Given the description of an element on the screen output the (x, y) to click on. 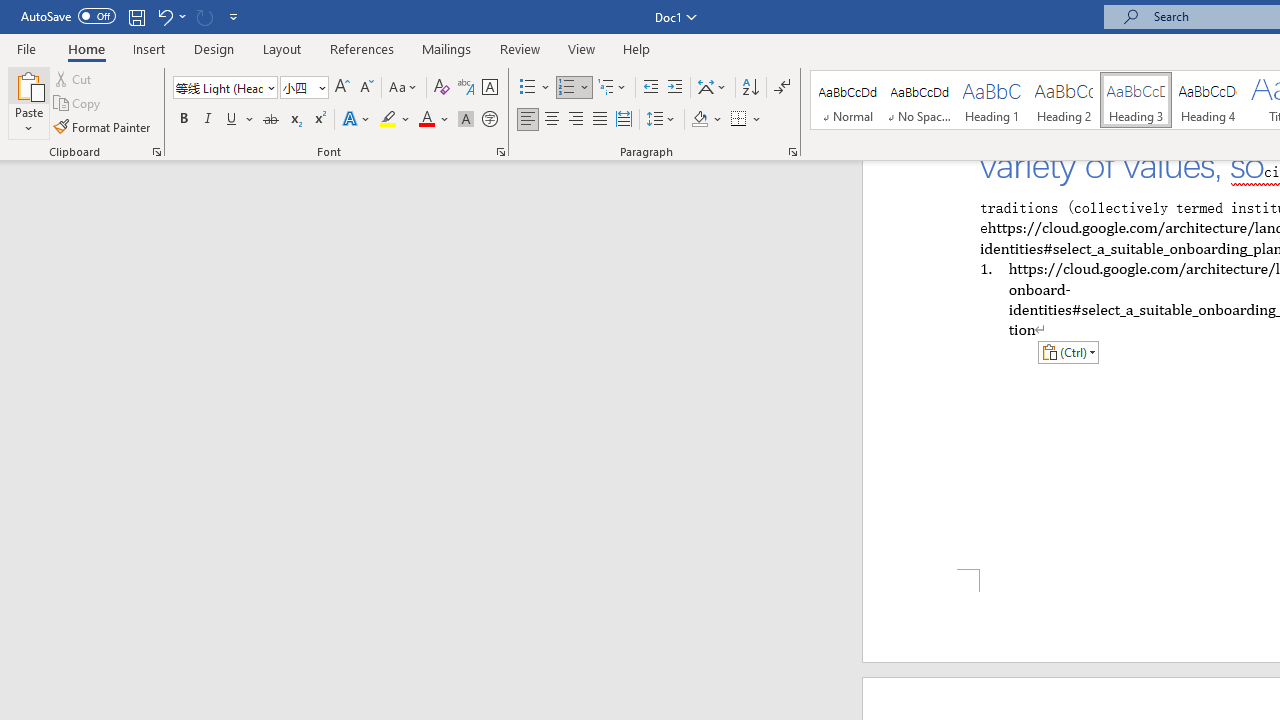
Distributed (623, 119)
Can't Repeat (204, 15)
Sort... (750, 87)
Phonetic Guide... (465, 87)
Cut (73, 78)
